Given the description of an element on the screen output the (x, y) to click on. 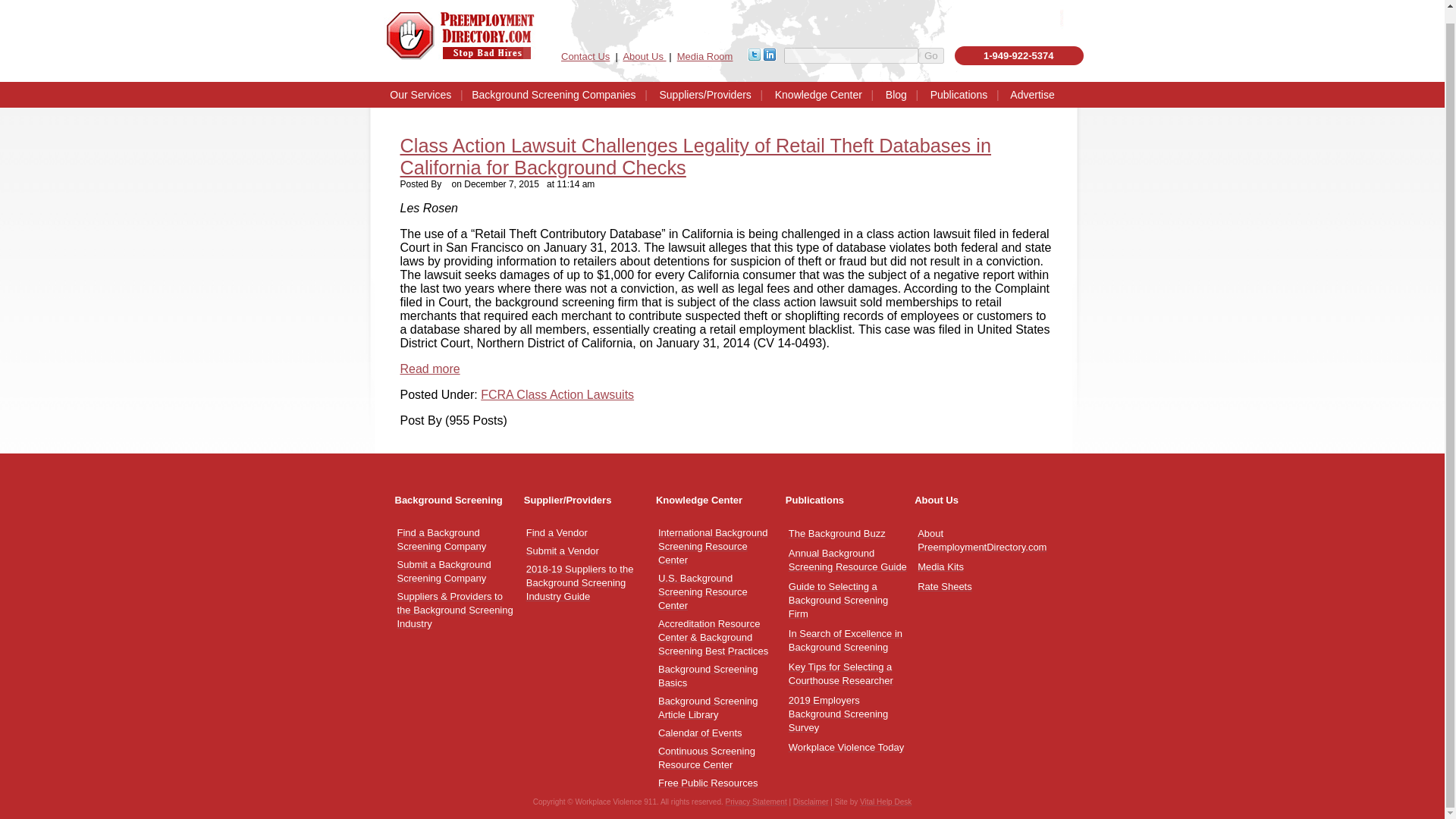
U.S. Background Screening Resource Center (708, 707)
Background Screening Companies (703, 591)
Free Public Resources (441, 538)
Find a Vendor (552, 94)
Media Room (708, 782)
Advertise (556, 532)
 Knowledge Center (705, 56)
Go (1032, 94)
